Given the description of an element on the screen output the (x, y) to click on. 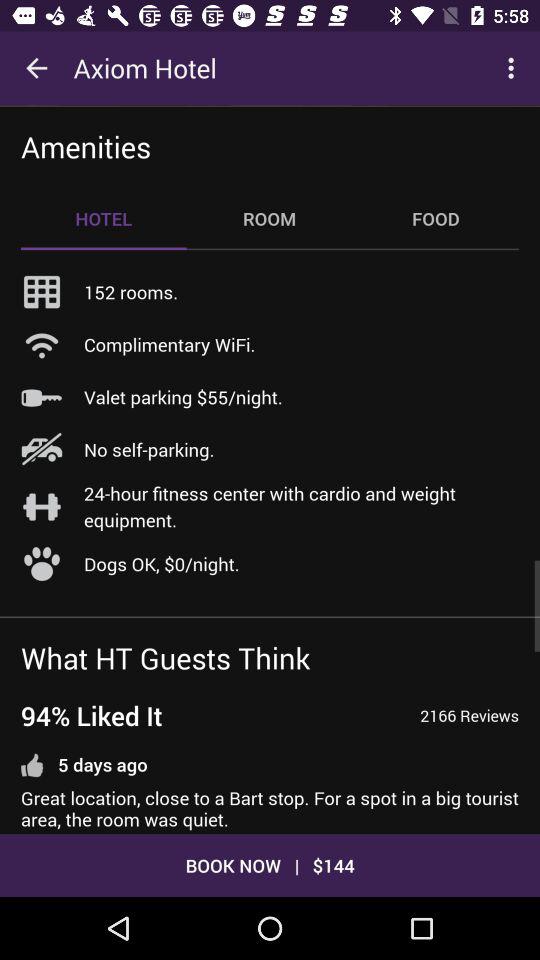
open the item to the right of the room icon (435, 218)
